Given the description of an element on the screen output the (x, y) to click on. 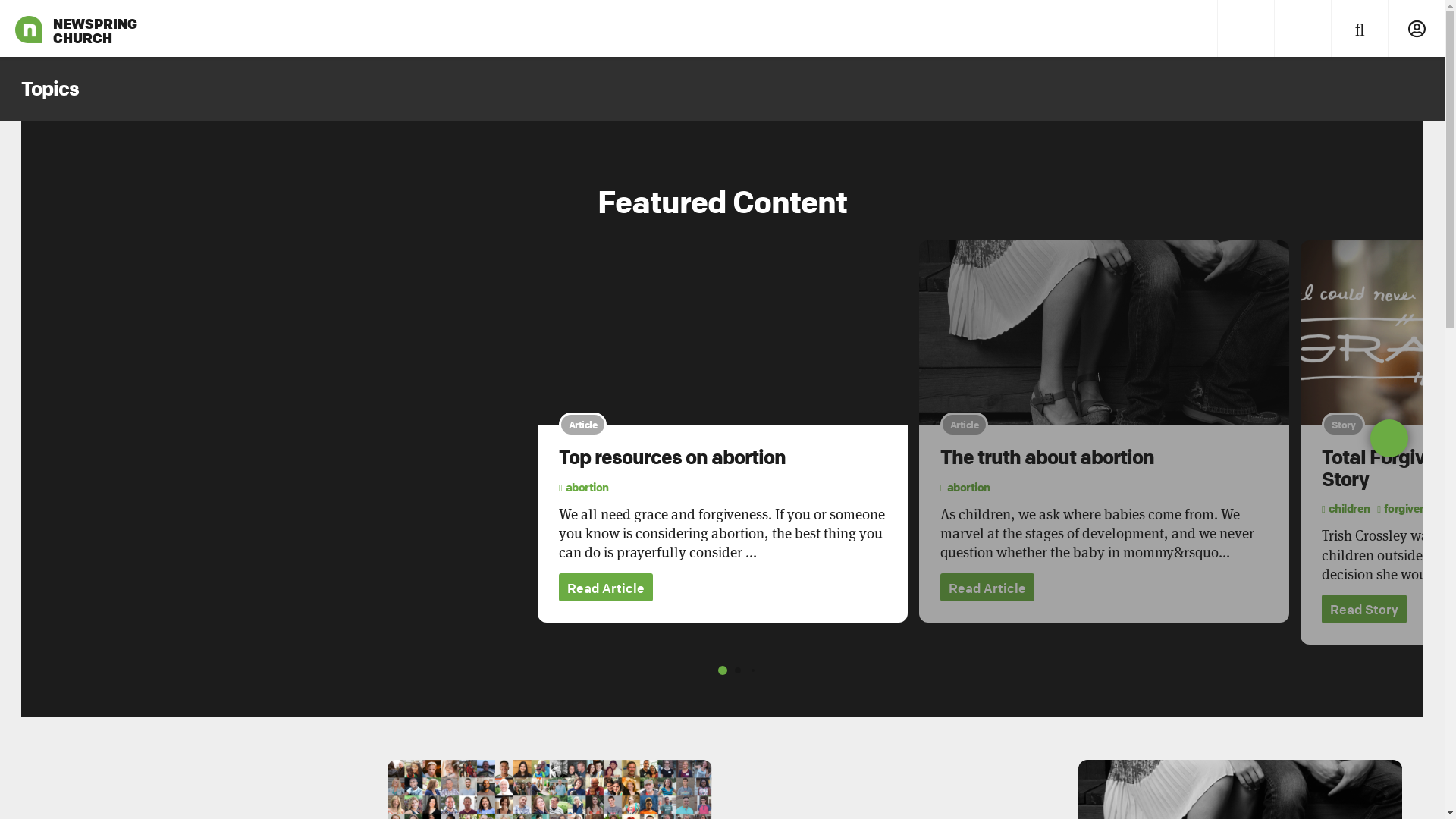
abortion Element type: text (965, 486)
Article Element type: text (1104, 332)
Read Story Element type: text (1363, 608)
Article Element type: text (722, 332)
Search Element type: hover (1358, 28)
Top resources on abortion Element type: text (671, 457)
Locations Element type: hover (1302, 28)
forgiveness Element type: text (1410, 507)
abortion Element type: text (583, 486)
Read Article Element type: text (987, 587)
Read Article Element type: text (605, 587)
Menu Element type: hover (1245, 28)
Sign In Element type: hover (1415, 28)
children Element type: text (1345, 507)
NEWSPRING CHURCH Element type: text (28, 28)
The truth about abortion Element type: text (1047, 457)
